Given the description of an element on the screen output the (x, y) to click on. 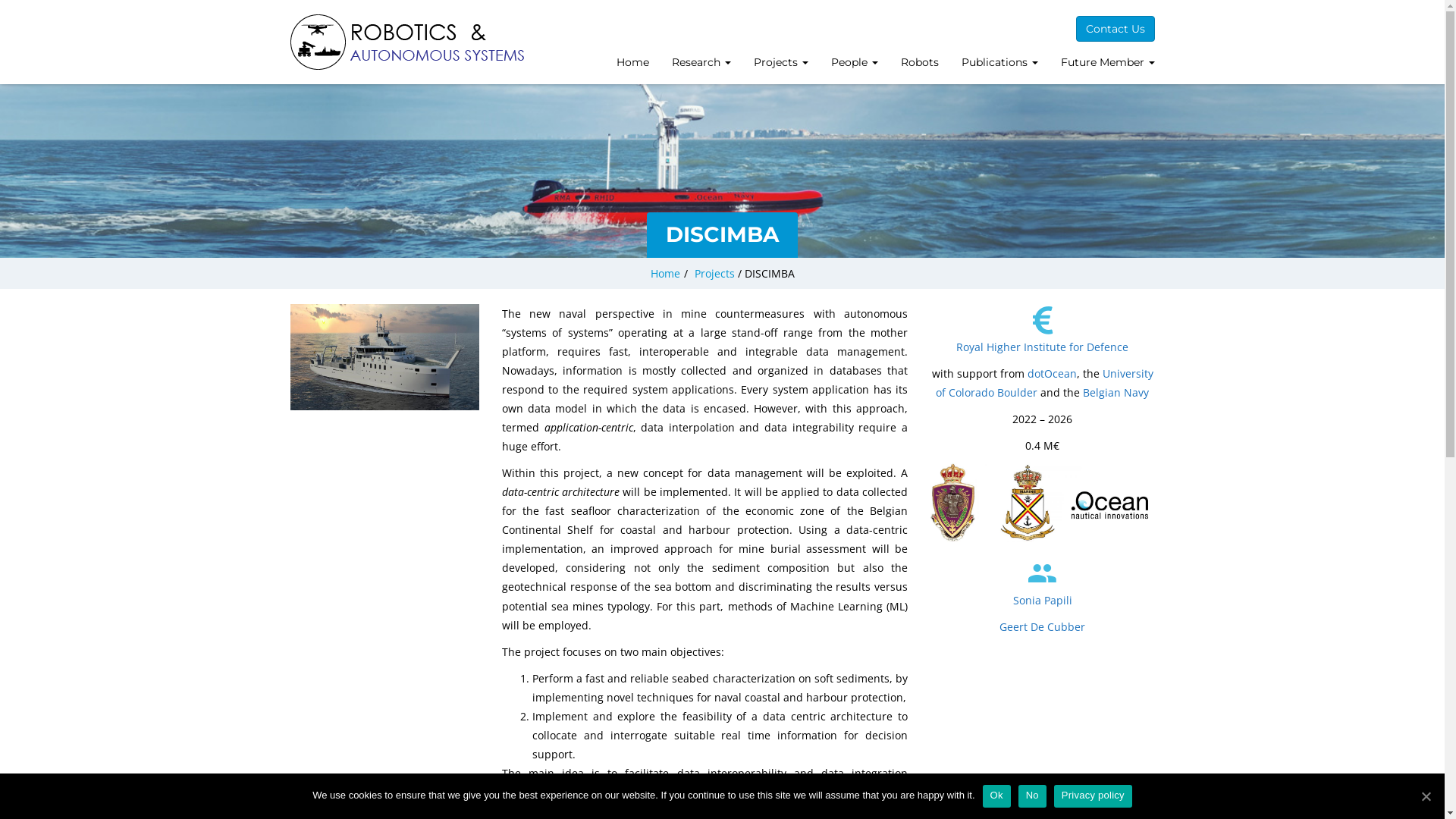
University of Colorado Boulder Element type: text (1044, 382)
Sonia Papili Element type: text (1042, 600)
Robots Element type: text (918, 63)
Geert De Cubber Element type: text (1042, 626)
Research Element type: text (700, 63)
Projects Element type: text (714, 273)
dotOcean Element type: text (1051, 373)
Privacy policy Element type: text (1093, 795)
Contact Us Element type: text (1114, 28)
Publications Element type: text (998, 63)
Belgian Navy Element type: text (1115, 392)
Projects Element type: text (780, 63)
Robotics & Autonomous Systems Element type: hover (408, 42)
Home Element type: text (632, 63)
People Element type: text (853, 63)
Royal Higher Institute for Defence Element type: text (1042, 346)
Ok Element type: text (996, 795)
Future Member Element type: text (1107, 63)
Home Element type: text (665, 273)
No Element type: text (1032, 795)
